Given the description of an element on the screen output the (x, y) to click on. 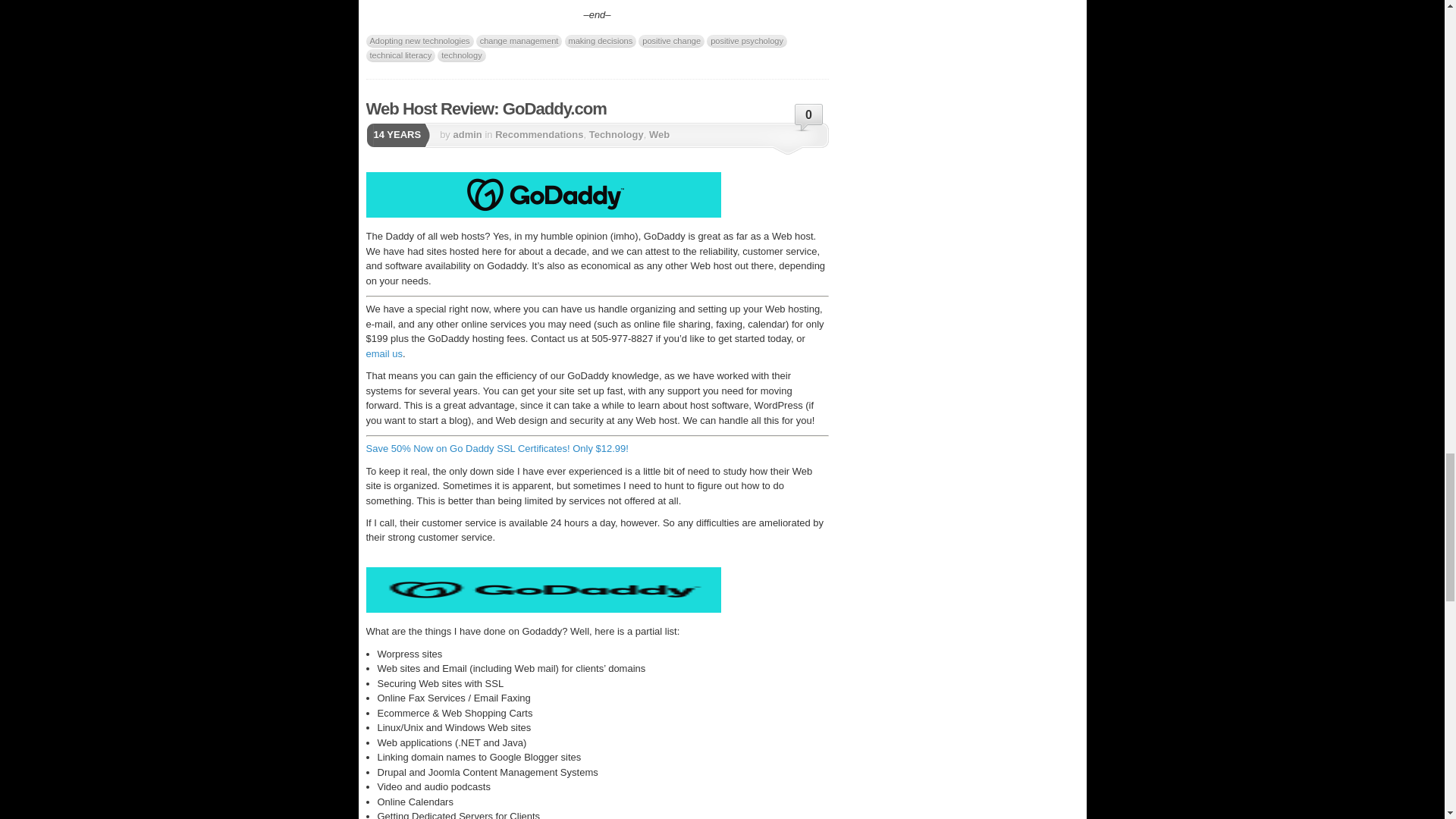
Permalink to Web Host Review: GoDaddy.com (485, 108)
email us (383, 353)
positive psychology (746, 41)
change management (519, 41)
Technology (616, 134)
Web (659, 134)
Posts by admin (466, 134)
0 (809, 119)
positive change (671, 41)
Adopting new technologies (419, 41)
